Given the description of an element on the screen output the (x, y) to click on. 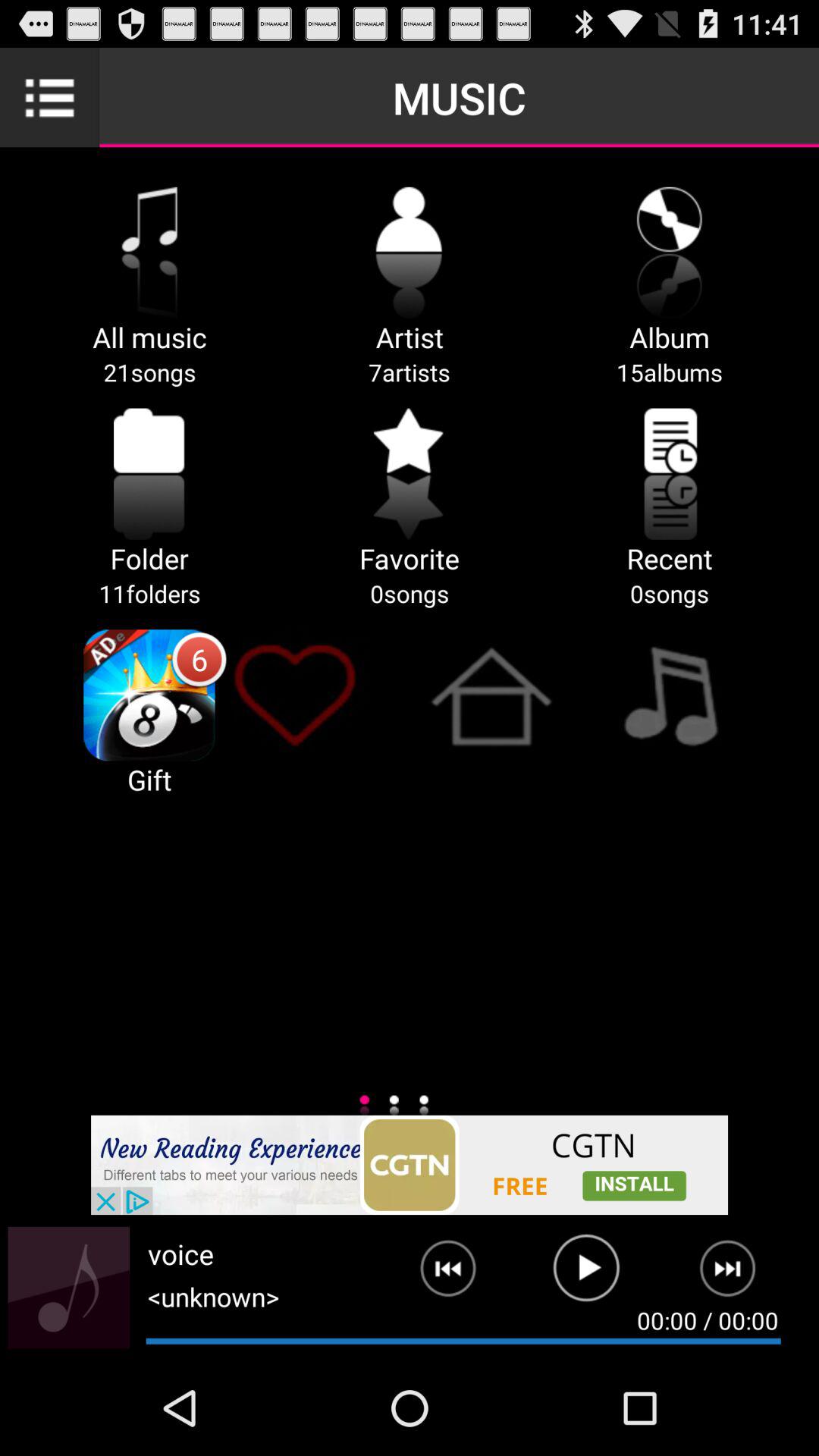
play the song (586, 1274)
